Given the description of an element on the screen output the (x, y) to click on. 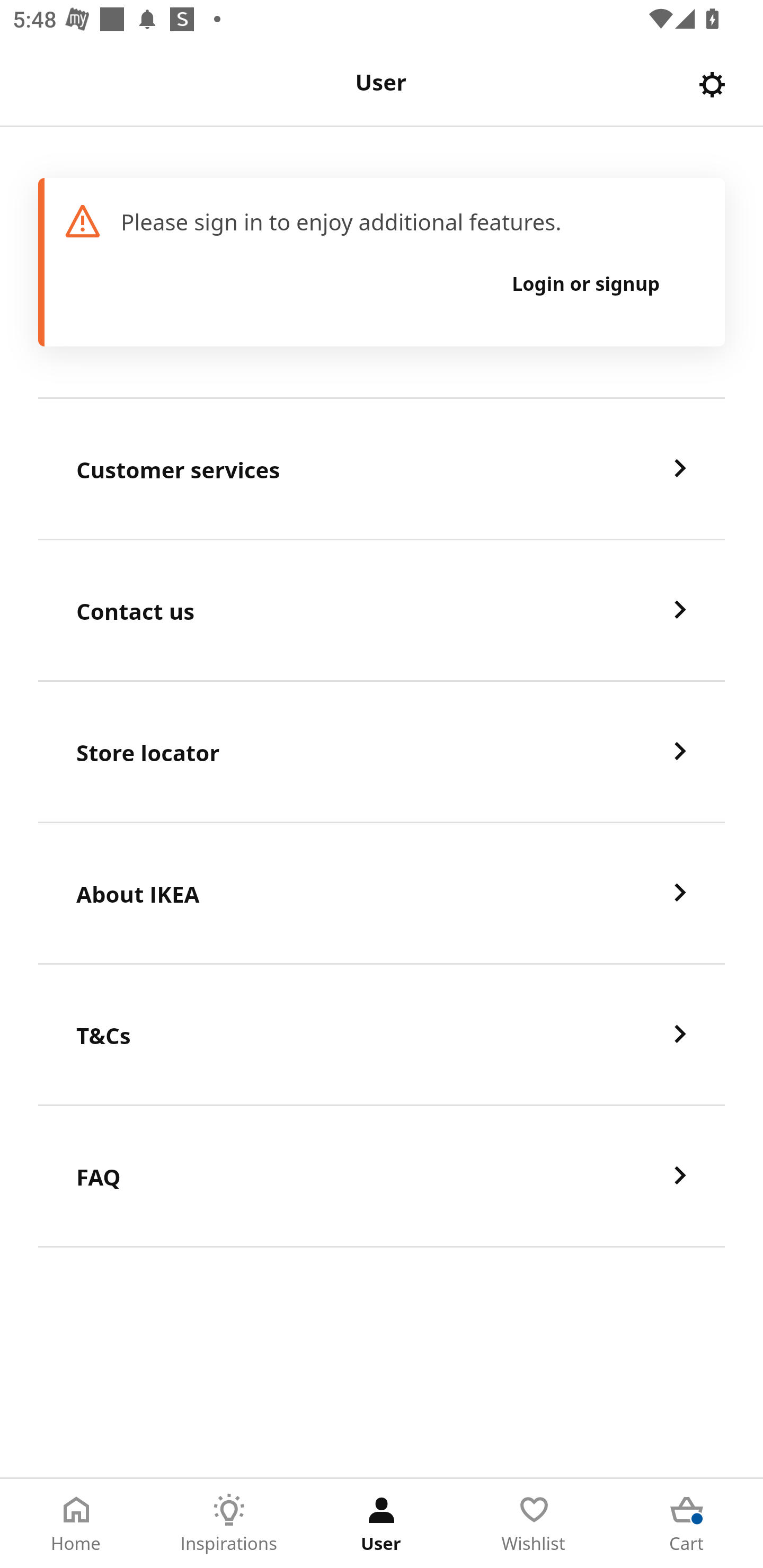
Login or signup (586, 282)
Customer services (381, 469)
Contact us (381, 611)
Store locator (381, 752)
About IKEA (381, 893)
T&Cs (381, 1034)
FAQ (381, 1176)
Home
Tab 1 of 5 (76, 1522)
Inspirations
Tab 2 of 5 (228, 1522)
User
Tab 3 of 5 (381, 1522)
Wishlist
Tab 4 of 5 (533, 1522)
Cart
Tab 5 of 5 (686, 1522)
